Given the description of an element on the screen output the (x, y) to click on. 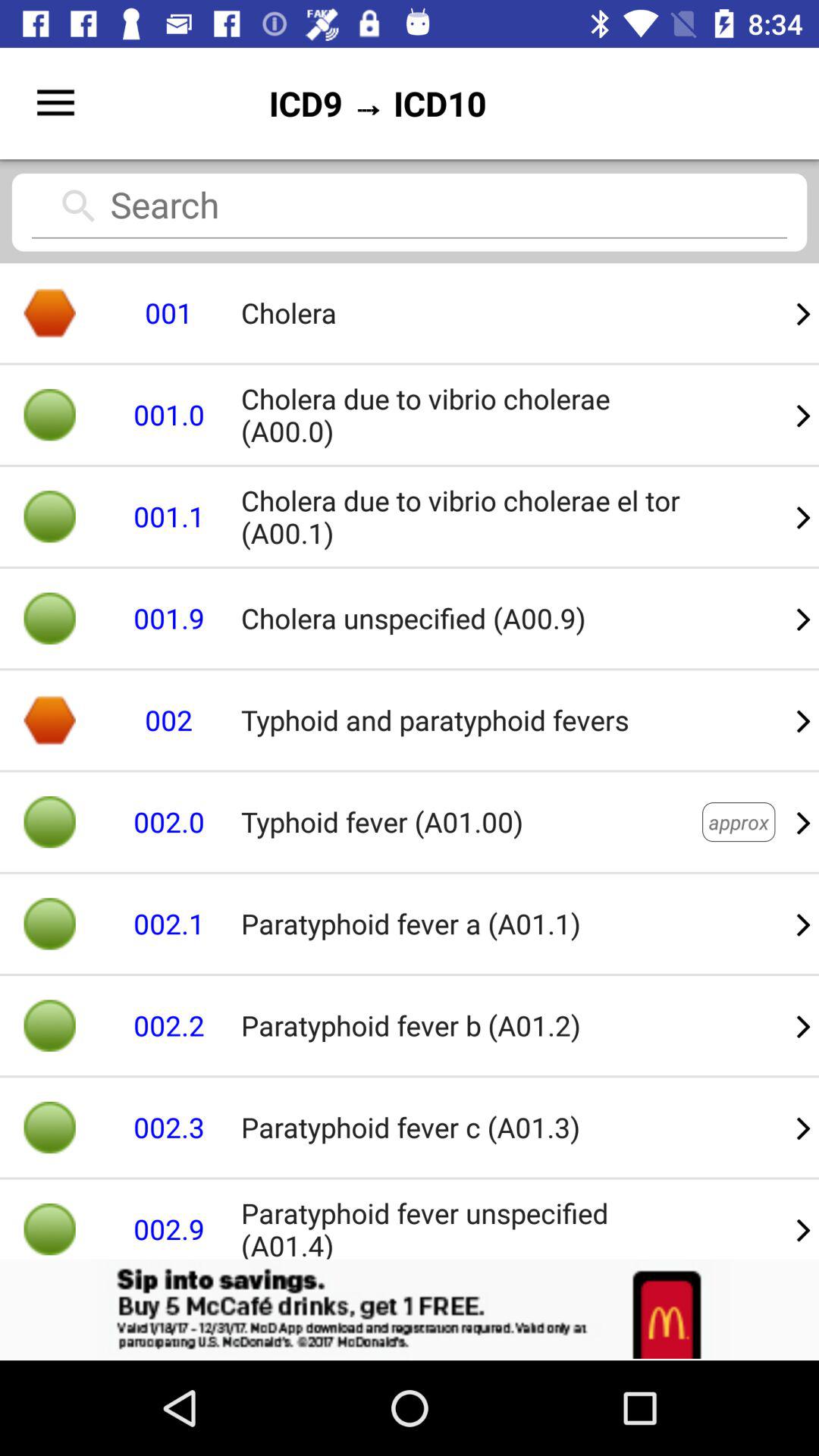
tap the item to the right of typhoid fever a01 (738, 821)
